Given the description of an element on the screen output the (x, y) to click on. 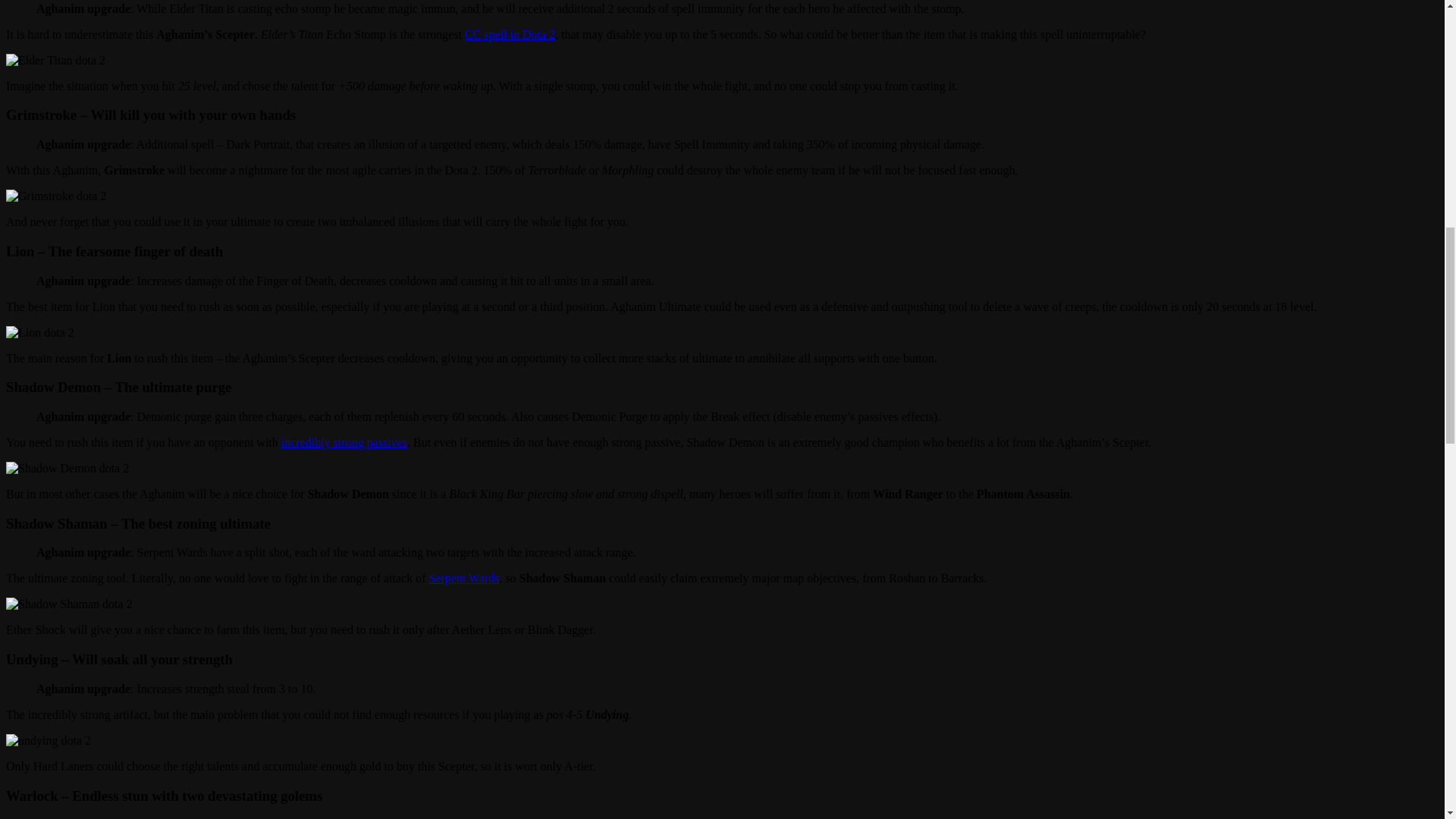
Serpent Wards (463, 577)
incredibly strong passives (344, 441)
CC spell in Dota 2 (509, 33)
